Given the description of an element on the screen output the (x, y) to click on. 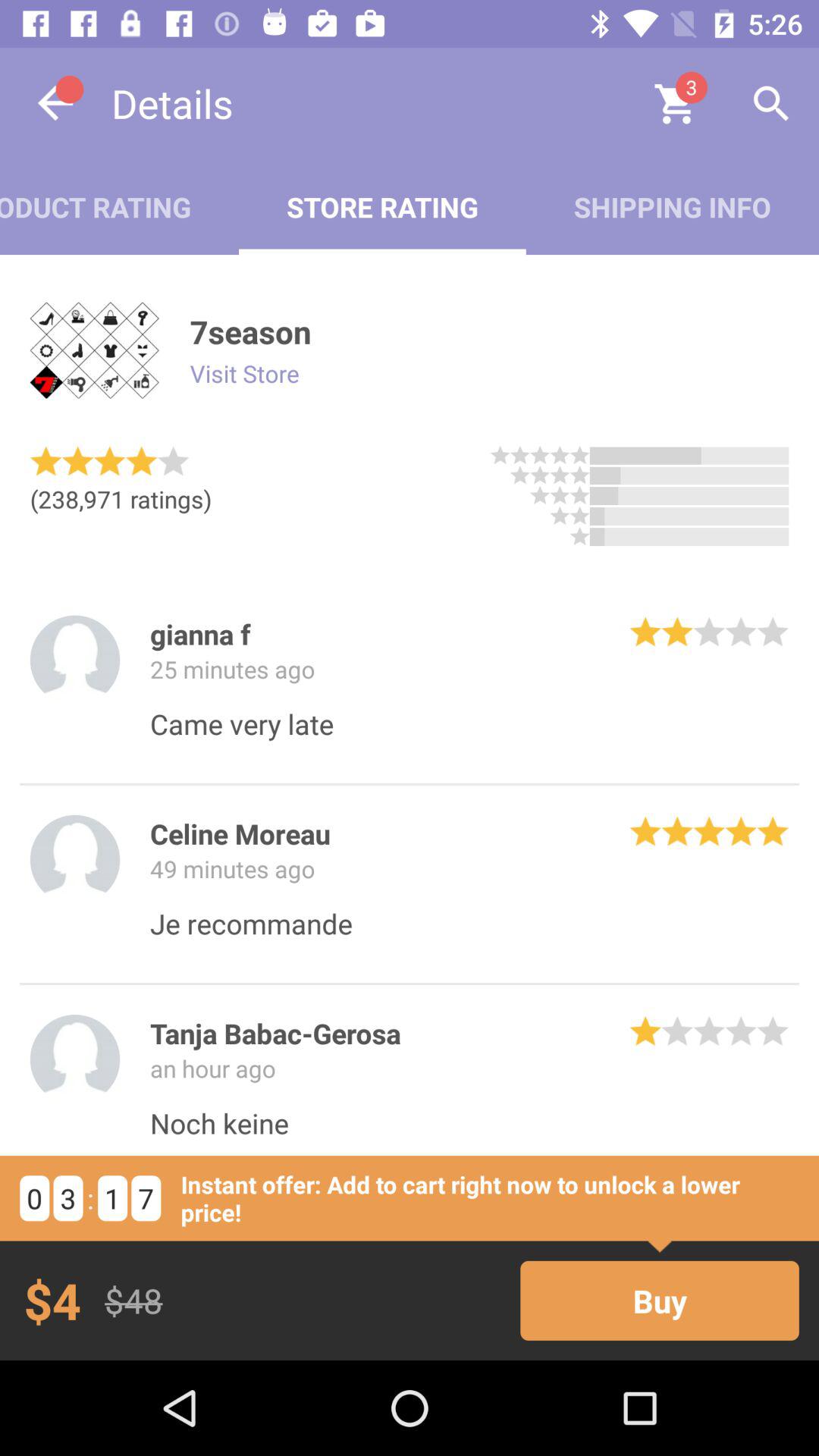
turn off the icon next to the details item (55, 103)
